Given the description of an element on the screen output the (x, y) to click on. 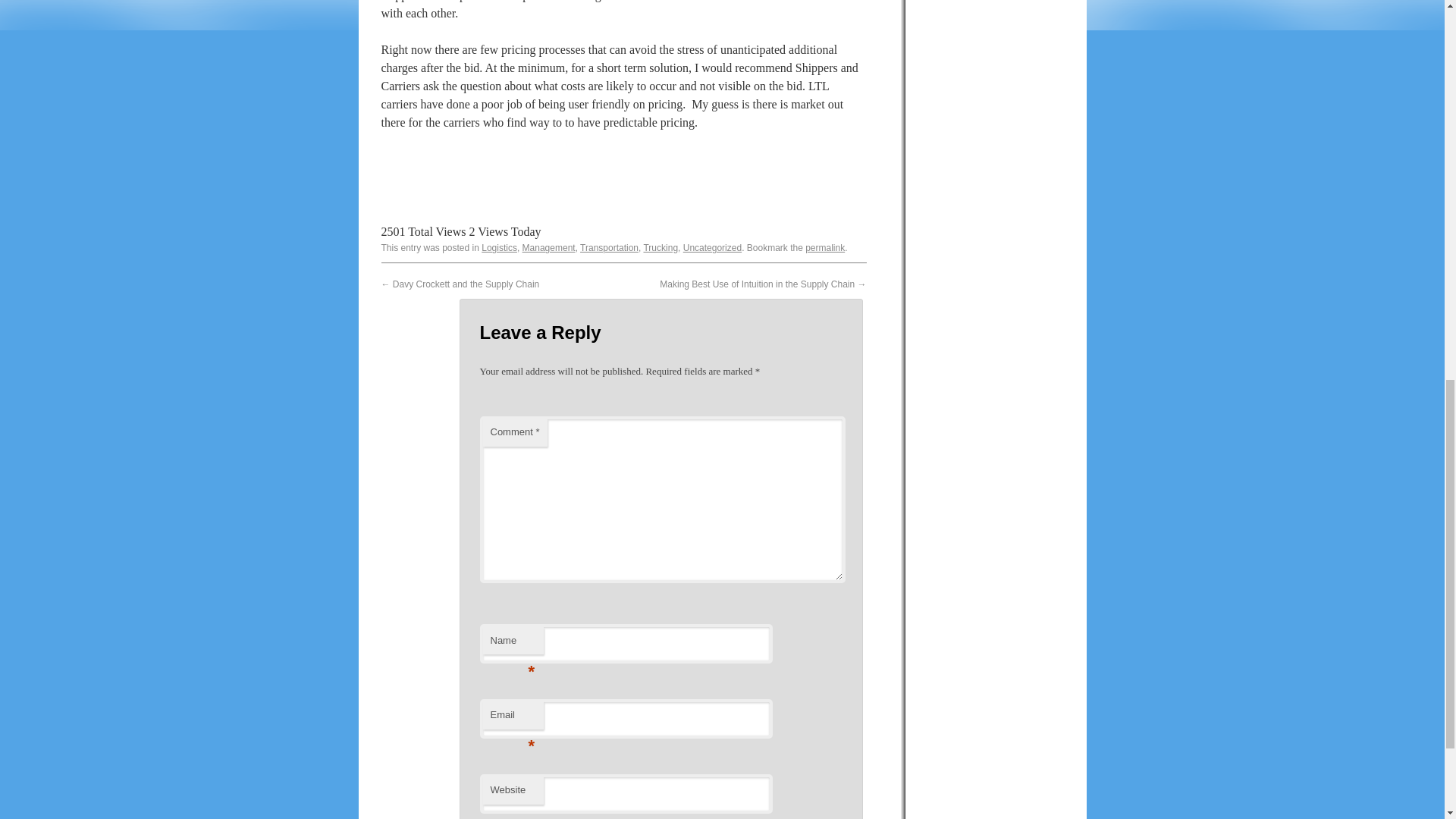
Transportation (609, 247)
Logistics (498, 247)
permalink (824, 247)
Permalink to LTL Pricing can be too Spirit Airlines (824, 247)
Management (548, 247)
Trucking (660, 247)
Uncategorized (711, 247)
